Given the description of an element on the screen output the (x, y) to click on. 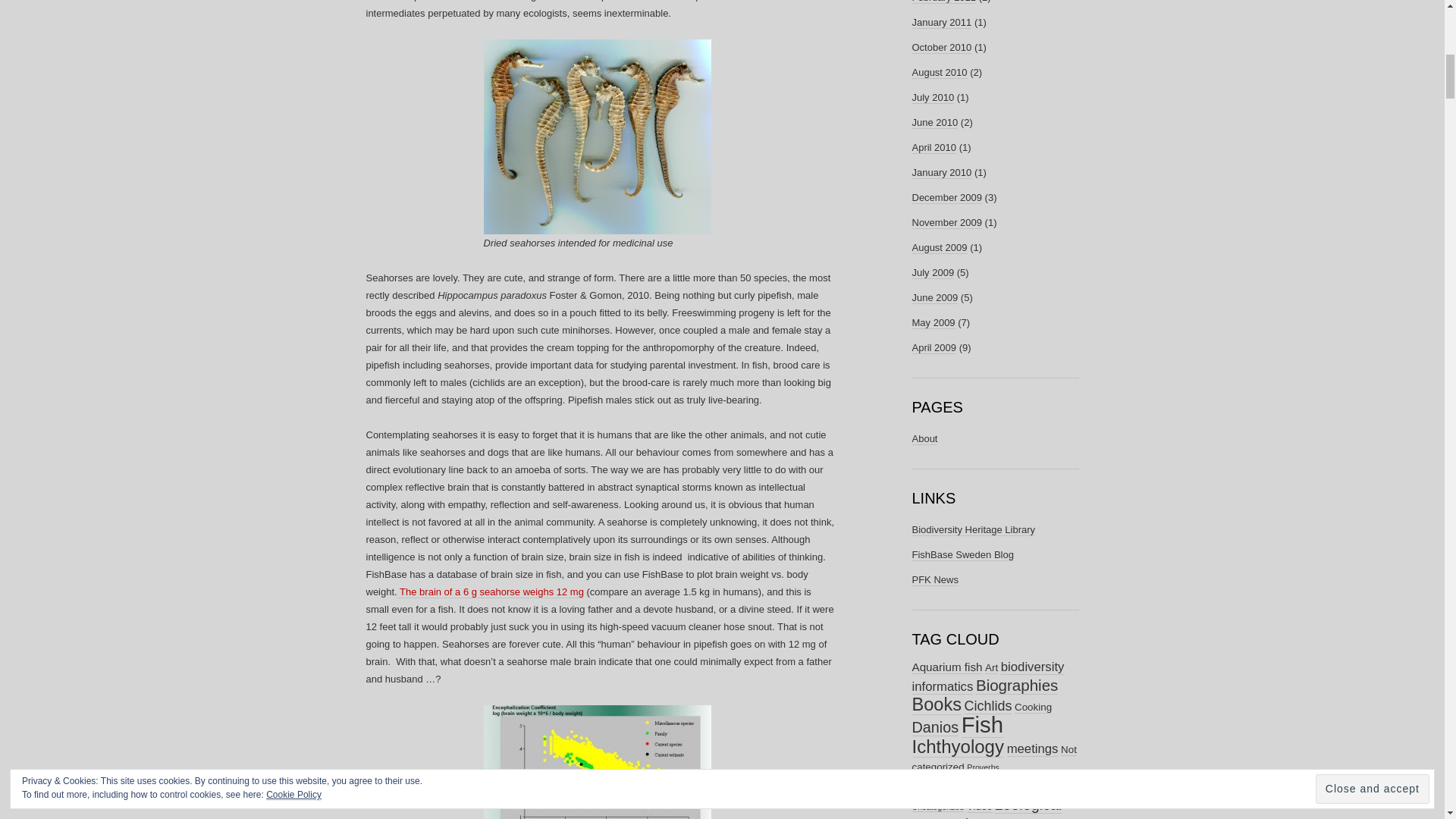
The brain of a 6 g seahorse weighs 12 mg (490, 592)
Chinese medicinal seahorses (597, 136)
pipebrains (597, 762)
